Given the description of an element on the screen output the (x, y) to click on. 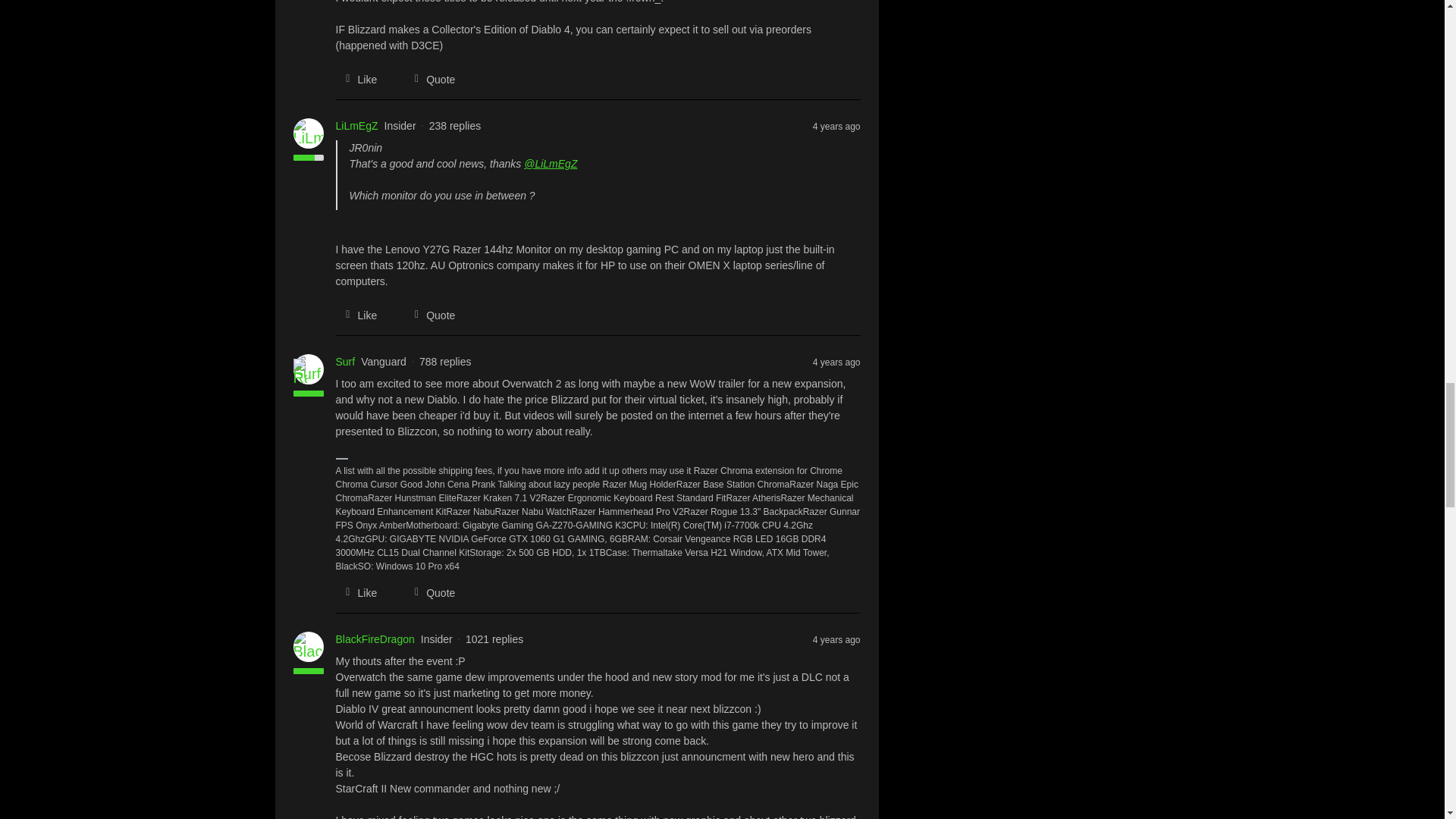
Surf (344, 361)
LiLmEgZ (355, 125)
